Given the description of an element on the screen output the (x, y) to click on. 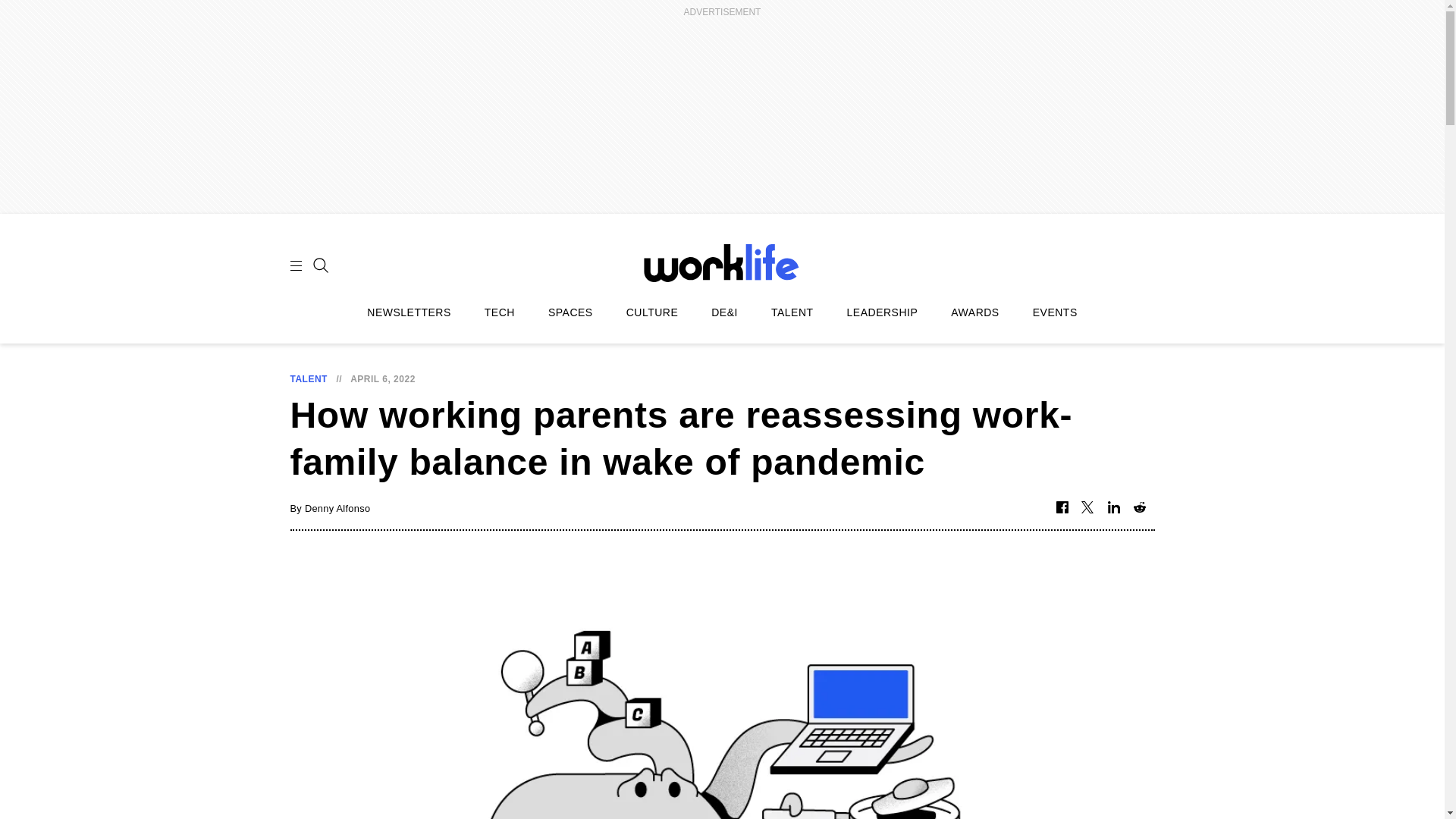
WorkLife home (722, 262)
Facebook (1061, 508)
Denny Alfonso (336, 508)
CULTURE (652, 312)
NEWSLETTERS (408, 312)
Share on Twitter (1087, 508)
Share on Reddit (1139, 508)
EVENTS (1054, 312)
Share on LinkedIn (1113, 508)
